Given the description of an element on the screen output the (x, y) to click on. 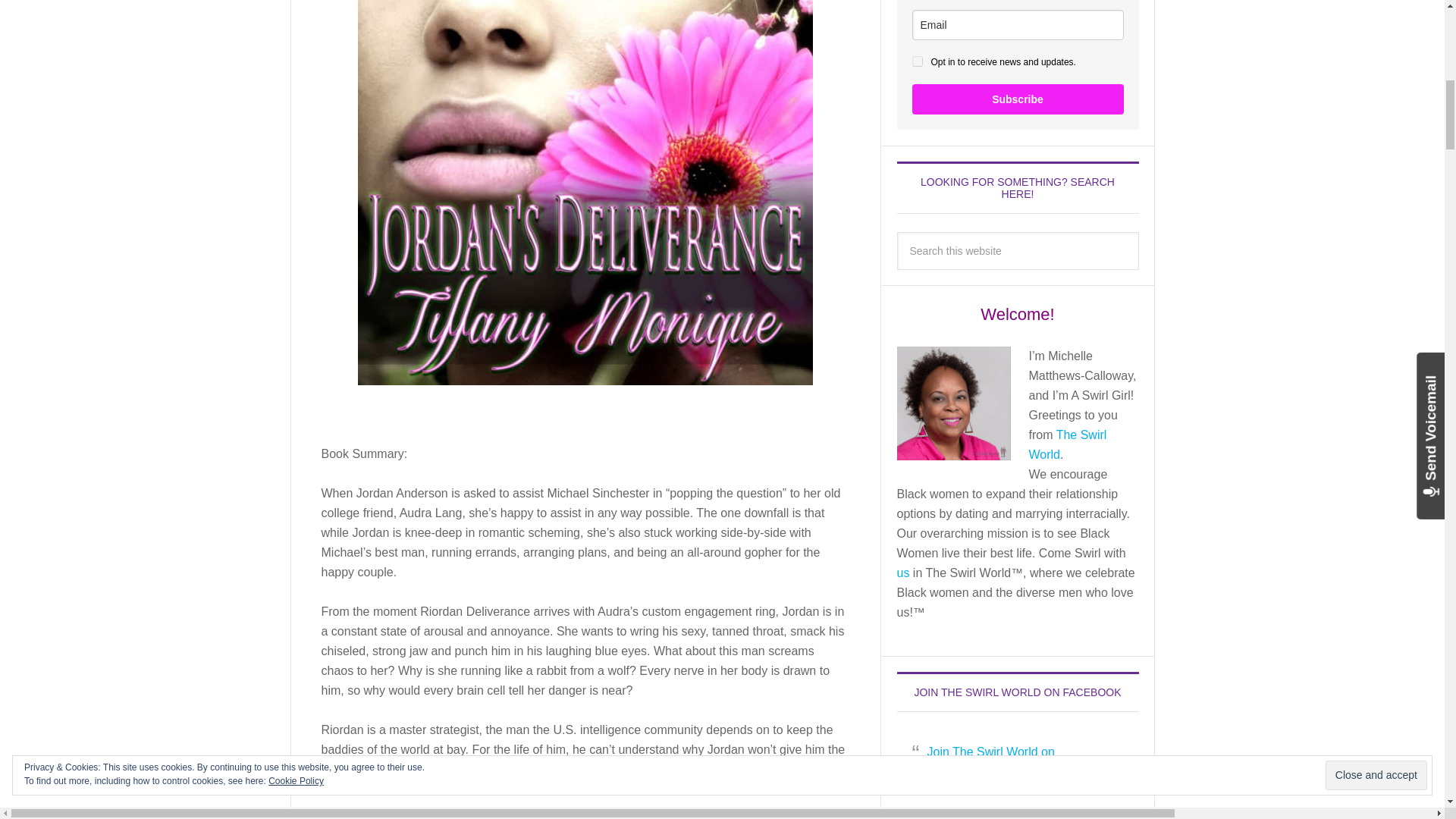
on (916, 61)
